Given the description of an element on the screen output the (x, y) to click on. 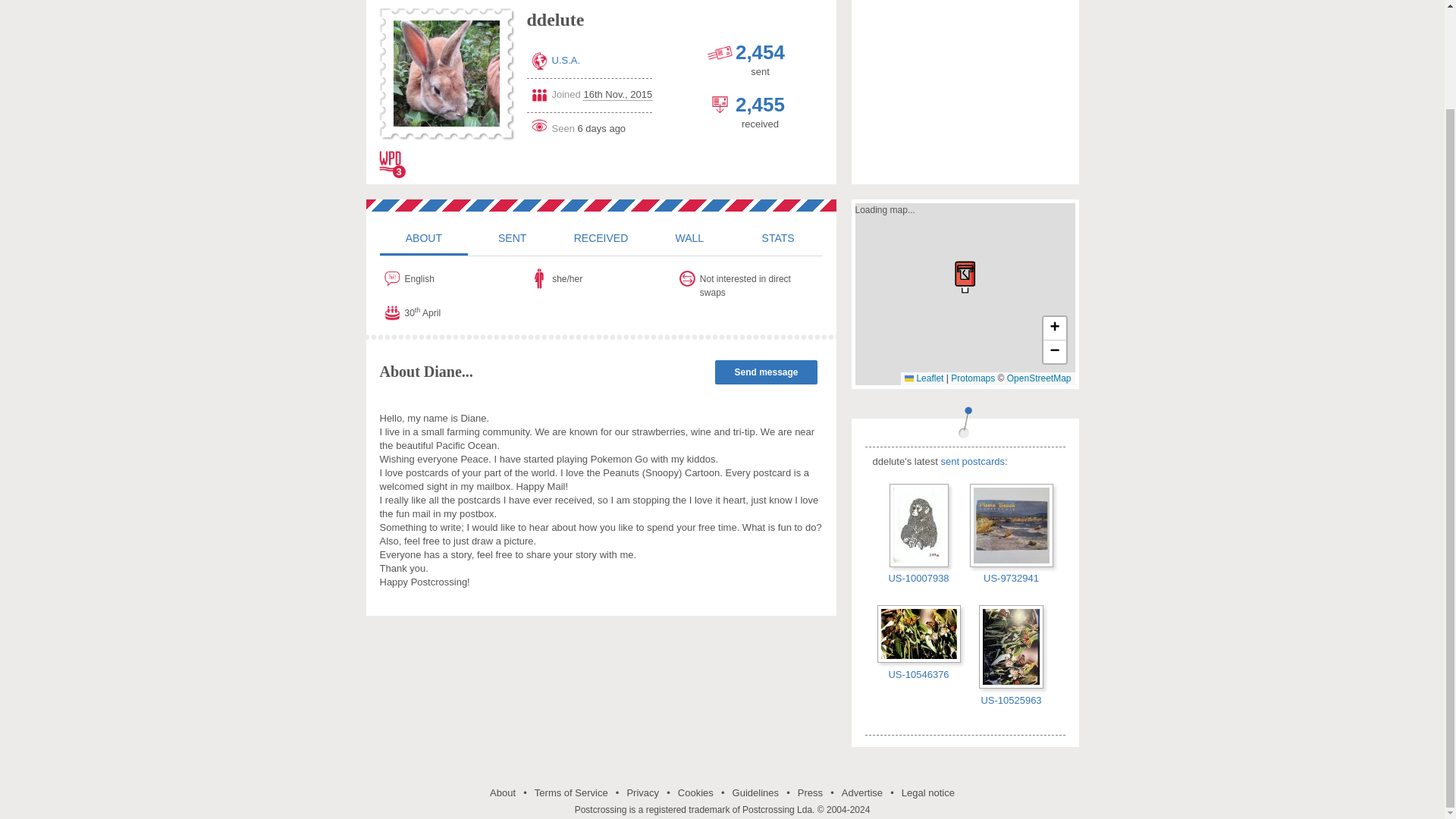
STATS (777, 237)
RECEIVED (600, 237)
2,455 (759, 104)
ddelute, United States of America (446, 73)
WALL (689, 237)
ddelute's sent postcards (511, 237)
Speaks (452, 278)
ddelute's statistics (777, 237)
ABOUT (422, 237)
Last login (588, 125)
